Given the description of an element on the screen output the (x, y) to click on. 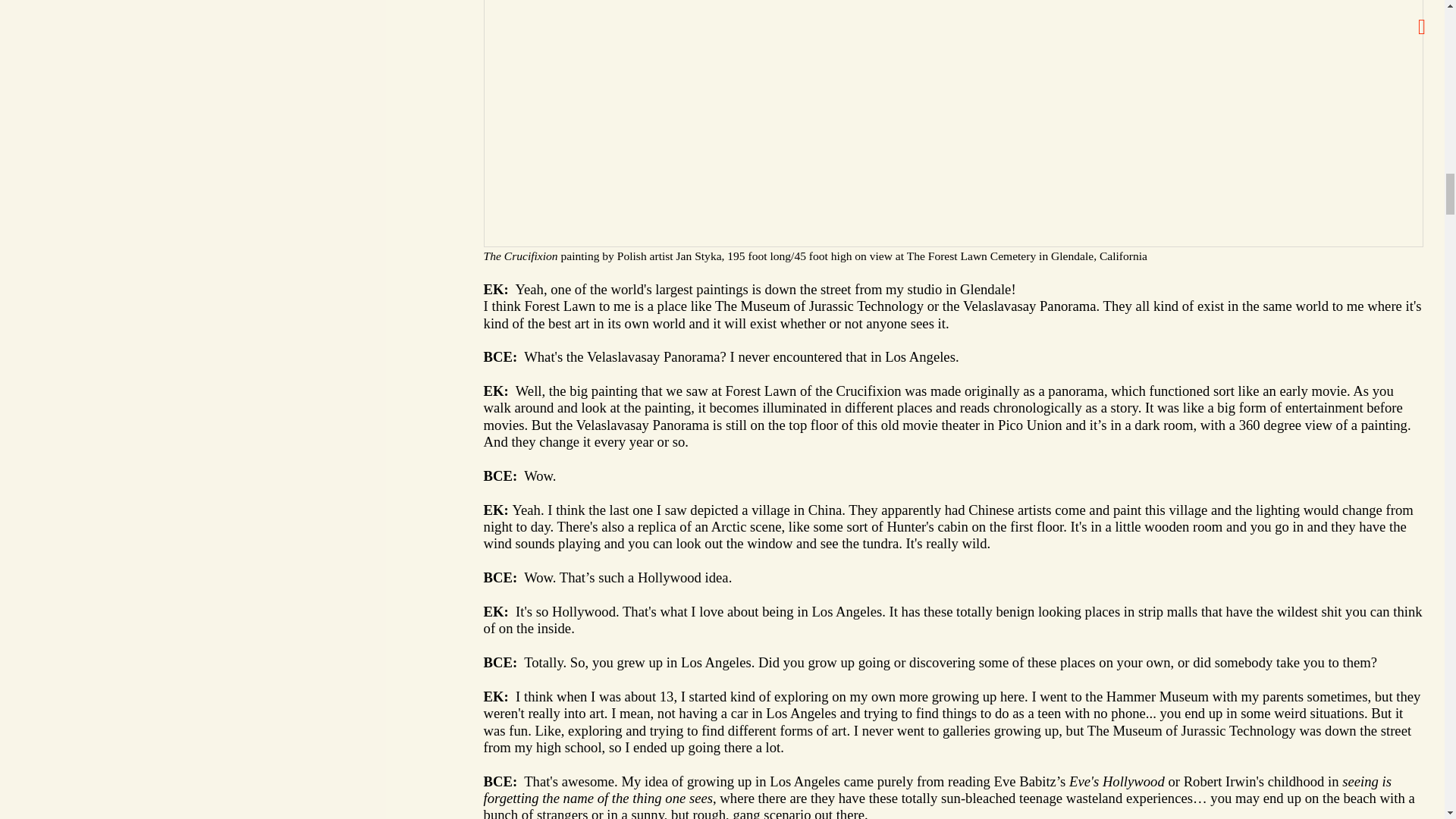
Eve's Hollywood (1116, 781)
The Museum of Jurassic Technology (818, 305)
Velaslavasay Panorama (1029, 305)
seeing is forgetting the name of the thing one sees, (937, 789)
